Given the description of an element on the screen output the (x, y) to click on. 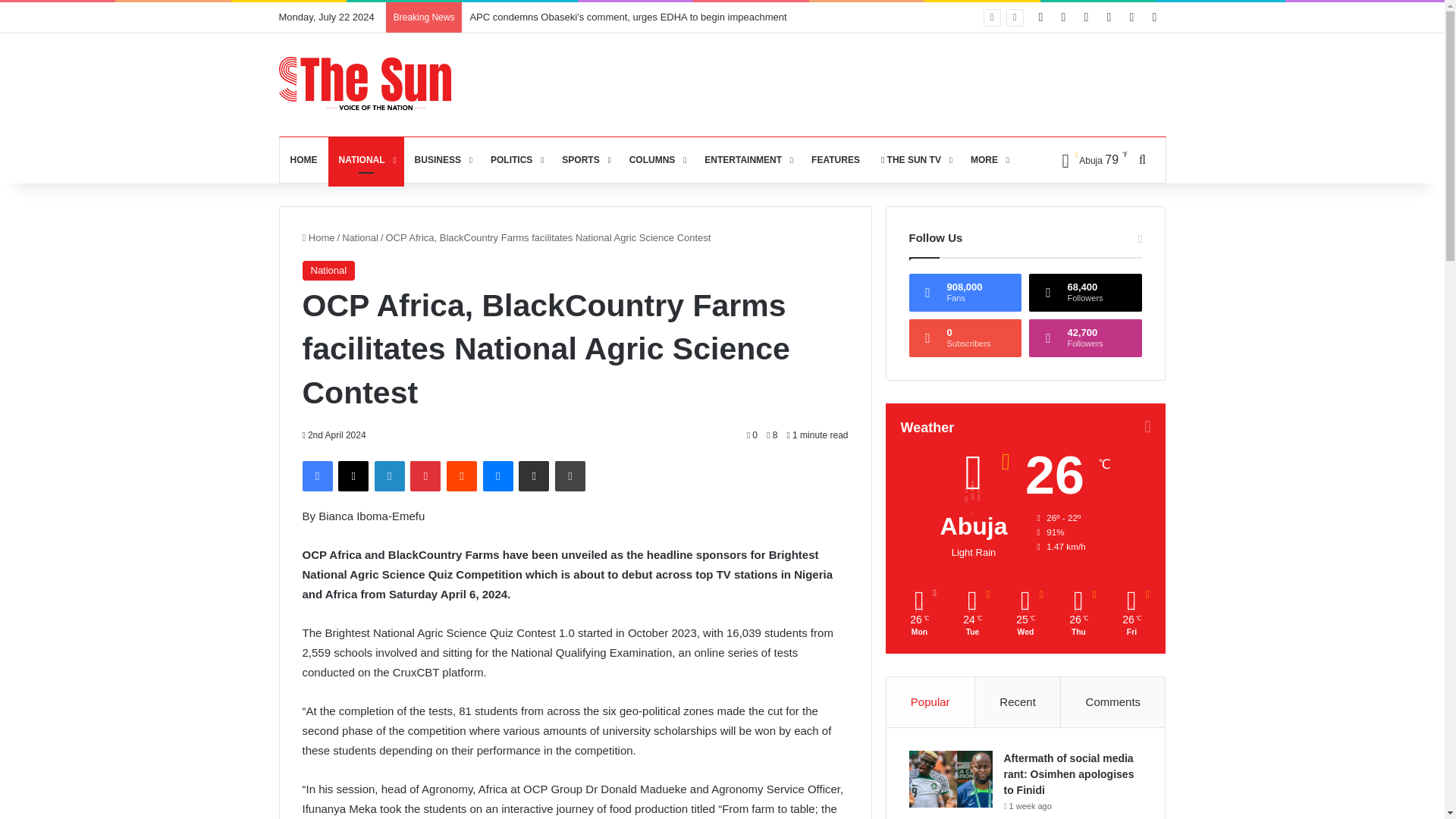
X (352, 476)
NATIONAL (365, 159)
The Sun Nigeria (365, 84)
THE SUN TV (914, 159)
ENTERTAINMENT (747, 159)
LinkedIn (389, 476)
Print (569, 476)
Pinterest (425, 476)
Facebook (316, 476)
BUSINESS (442, 159)
Reddit (461, 476)
SPORTS (584, 159)
Messenger (498, 476)
MORE (987, 159)
Light Rain (1088, 158)
